Given the description of an element on the screen output the (x, y) to click on. 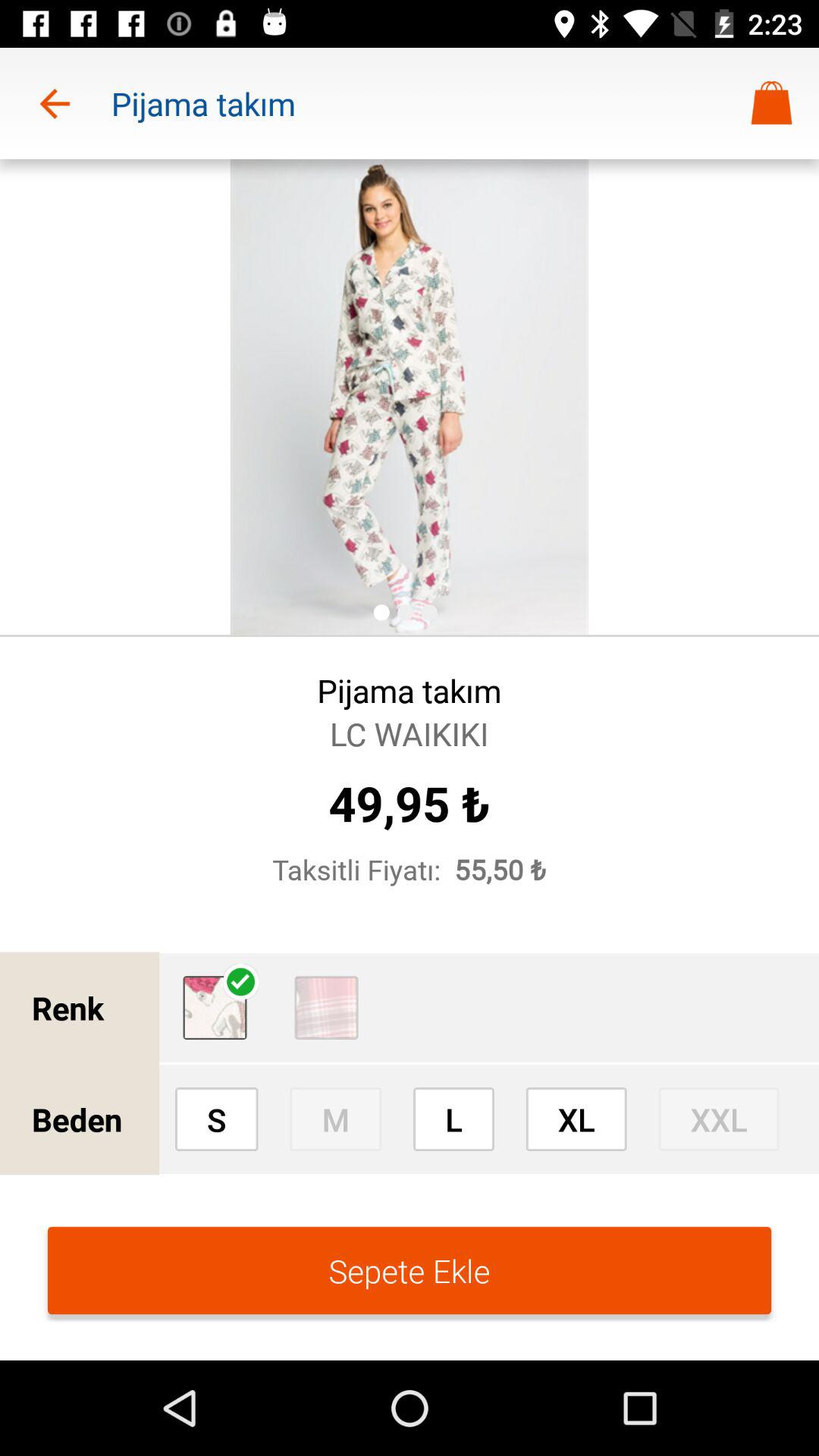
turn off item next to l (335, 1119)
